Given the description of an element on the screen output the (x, y) to click on. 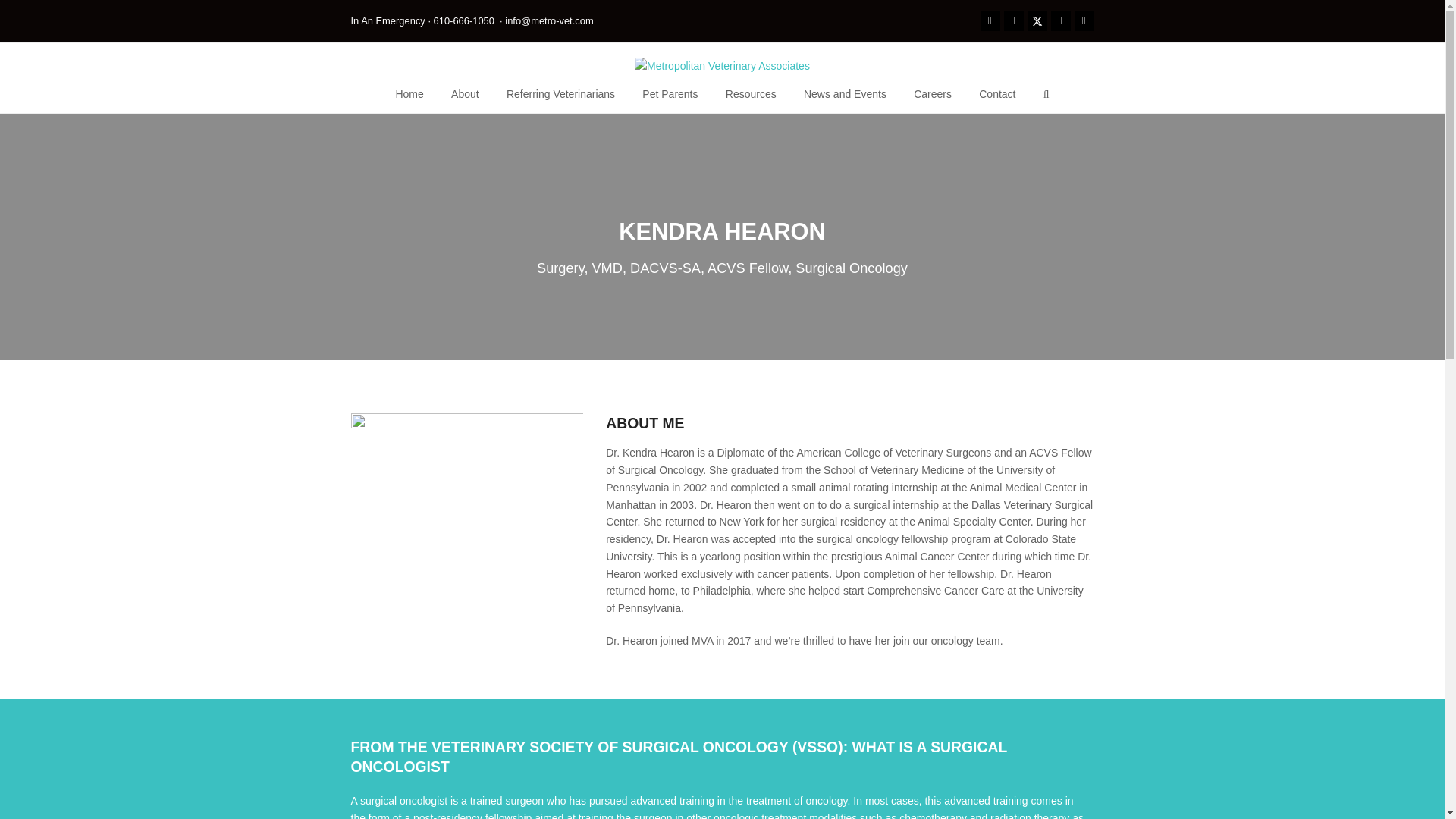
Pet Parents (670, 94)
Emergency Services (464, 20)
YouTube (1060, 21)
Facebook (988, 21)
About (465, 94)
Referring Veterinarians (561, 94)
Instagram (1013, 21)
Twitter (1036, 21)
Tiktok (1083, 21)
In An Emergency (387, 20)
